Given the description of an element on the screen output the (x, y) to click on. 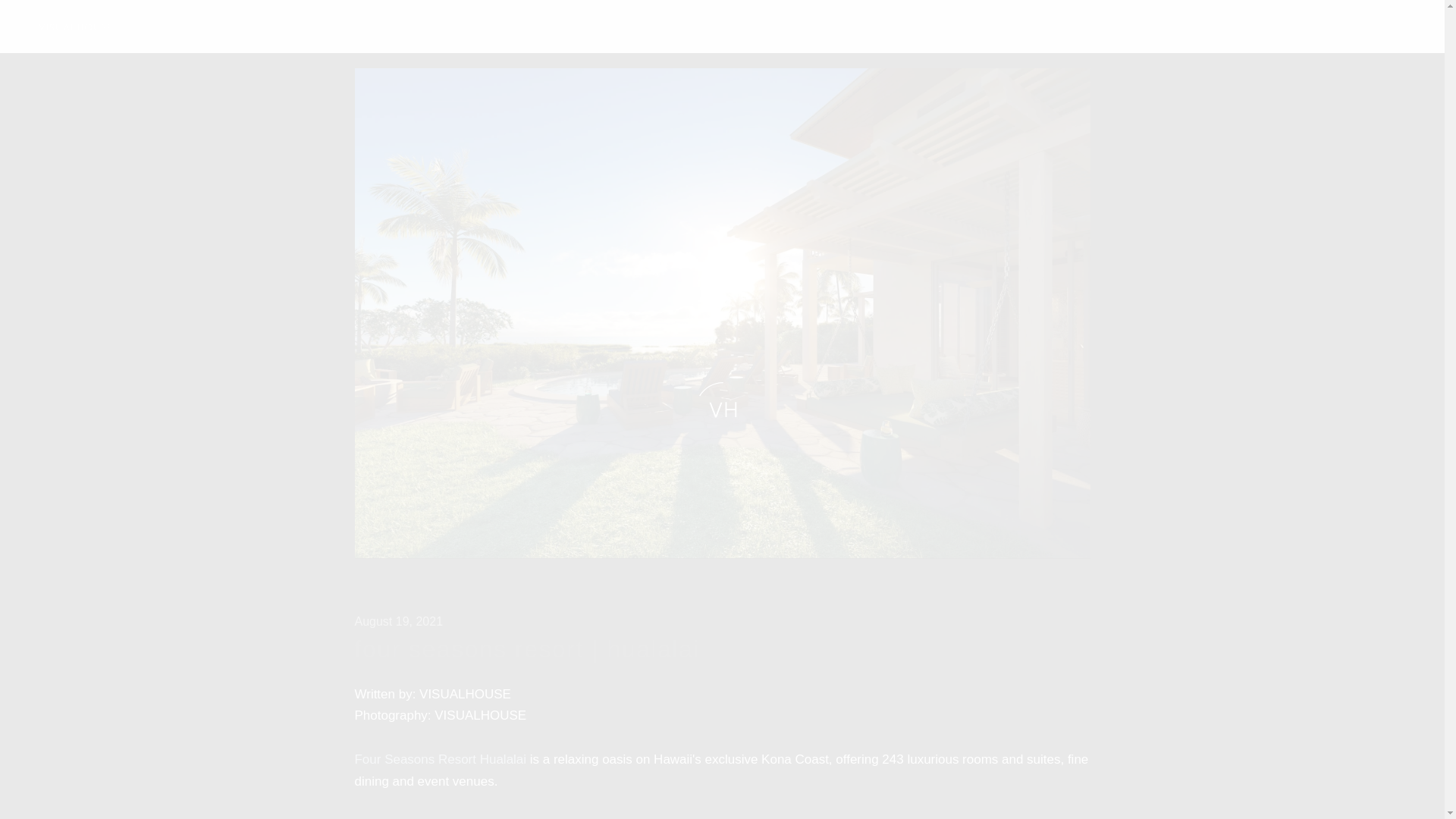
VISUALHOUSE (75, 26)
August 19, 2021 (399, 621)
Four Seasons Resort Hualalai (441, 759)
